Given the description of an element on the screen output the (x, y) to click on. 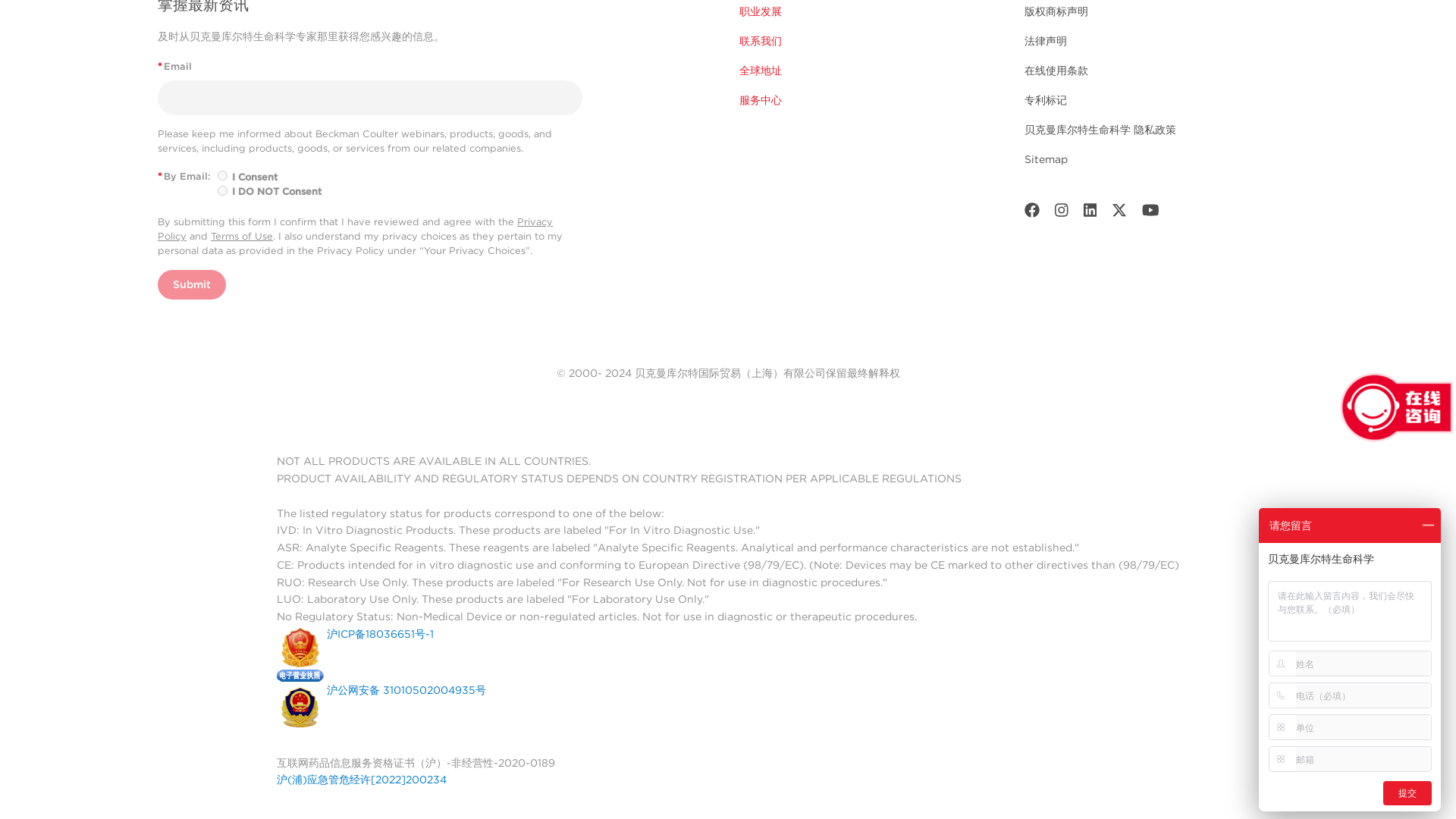
No (221, 190)
Yes (221, 175)
